Given the description of an element on the screen output the (x, y) to click on. 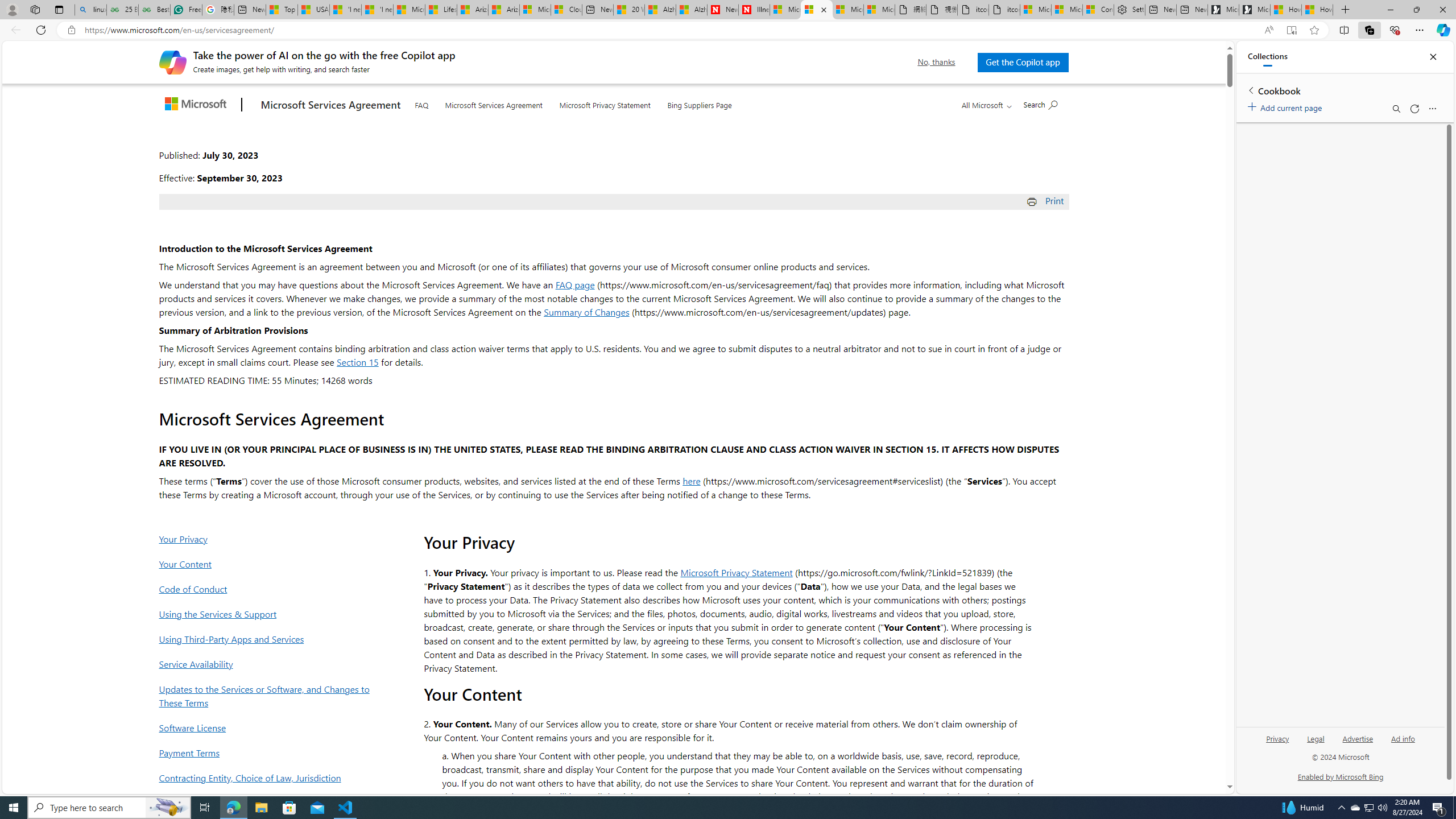
Ad info (1402, 738)
Software License (267, 727)
Microsoft Services Agreement (816, 9)
More options menu (1432, 108)
Your Privacy (267, 538)
Microsoft Privacy Statement (736, 571)
